Given the description of an element on the screen output the (x, y) to click on. 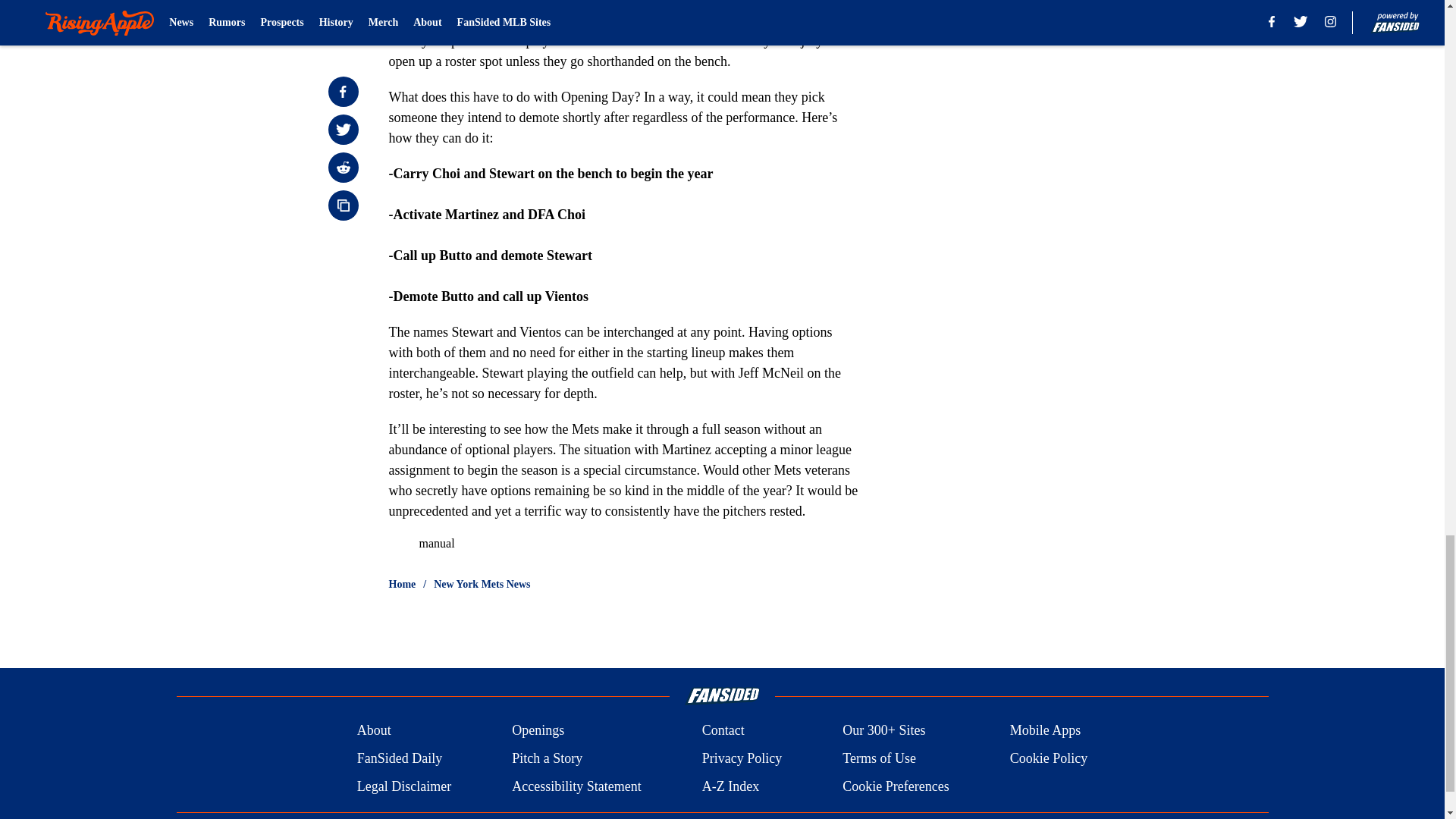
Cookie Policy (1048, 758)
Legal Disclaimer (403, 786)
New York Mets News (481, 584)
Cookie Preferences (896, 786)
Openings (538, 730)
A-Z Index (729, 786)
Accessibility Statement (576, 786)
Mobile Apps (1045, 730)
Terms of Use (879, 758)
Privacy Policy (742, 758)
About (373, 730)
Pitch a Story (547, 758)
Contact (722, 730)
FanSided Daily (399, 758)
Home (401, 584)
